Given the description of an element on the screen output the (x, y) to click on. 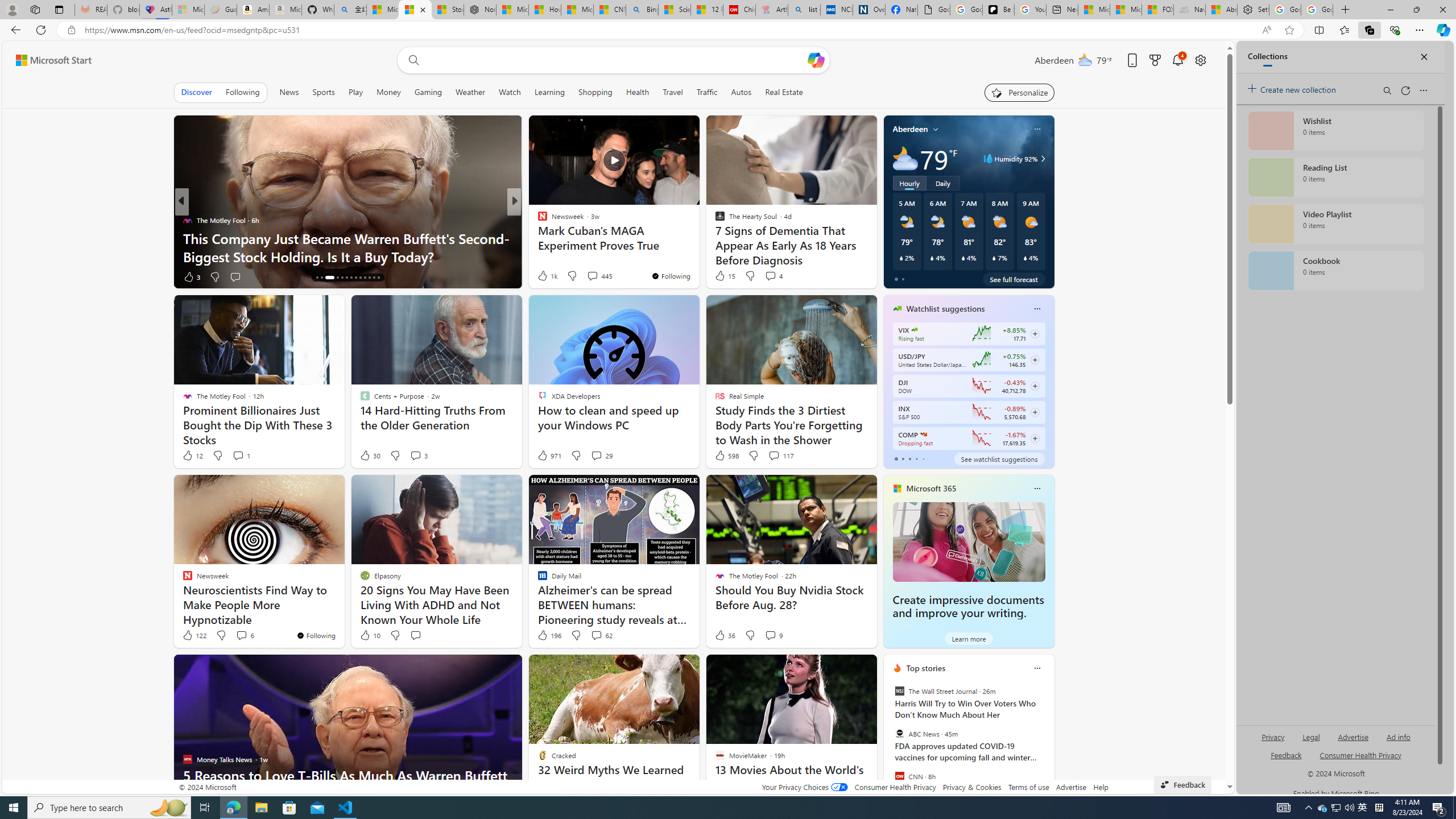
42 Like (543, 276)
View comments 29 Comment (595, 455)
Be Smart | creating Science videos | Patreon (997, 9)
ABC News (898, 733)
971 Like (548, 455)
Learning (549, 92)
tab-0 (895, 458)
